Given the description of an element on the screen output the (x, y) to click on. 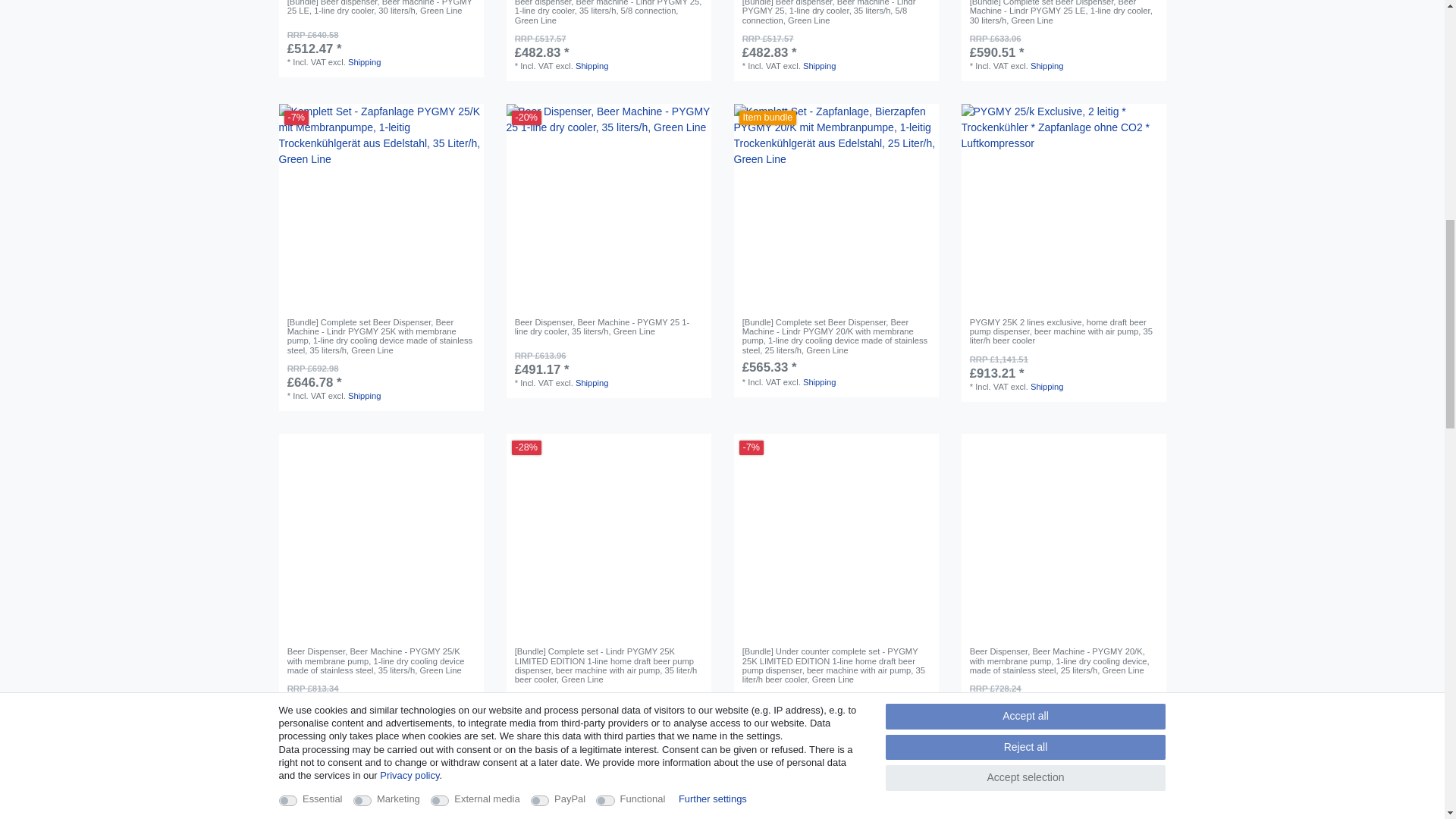
Shipping (364, 61)
Shipping (591, 382)
Ready to be delivered within 24 hours!  (457, 364)
Shipping (819, 65)
Ready to be delivered within 24 hours!  (457, 31)
Shipping (591, 65)
Shipping (1047, 65)
Ready to be delivered within 24 hours!  (912, 35)
Ready to be delivered within 24 hours!  (1140, 35)
Ready to be delivered within 24 hours!  (685, 352)
